Given the description of an element on the screen output the (x, y) to click on. 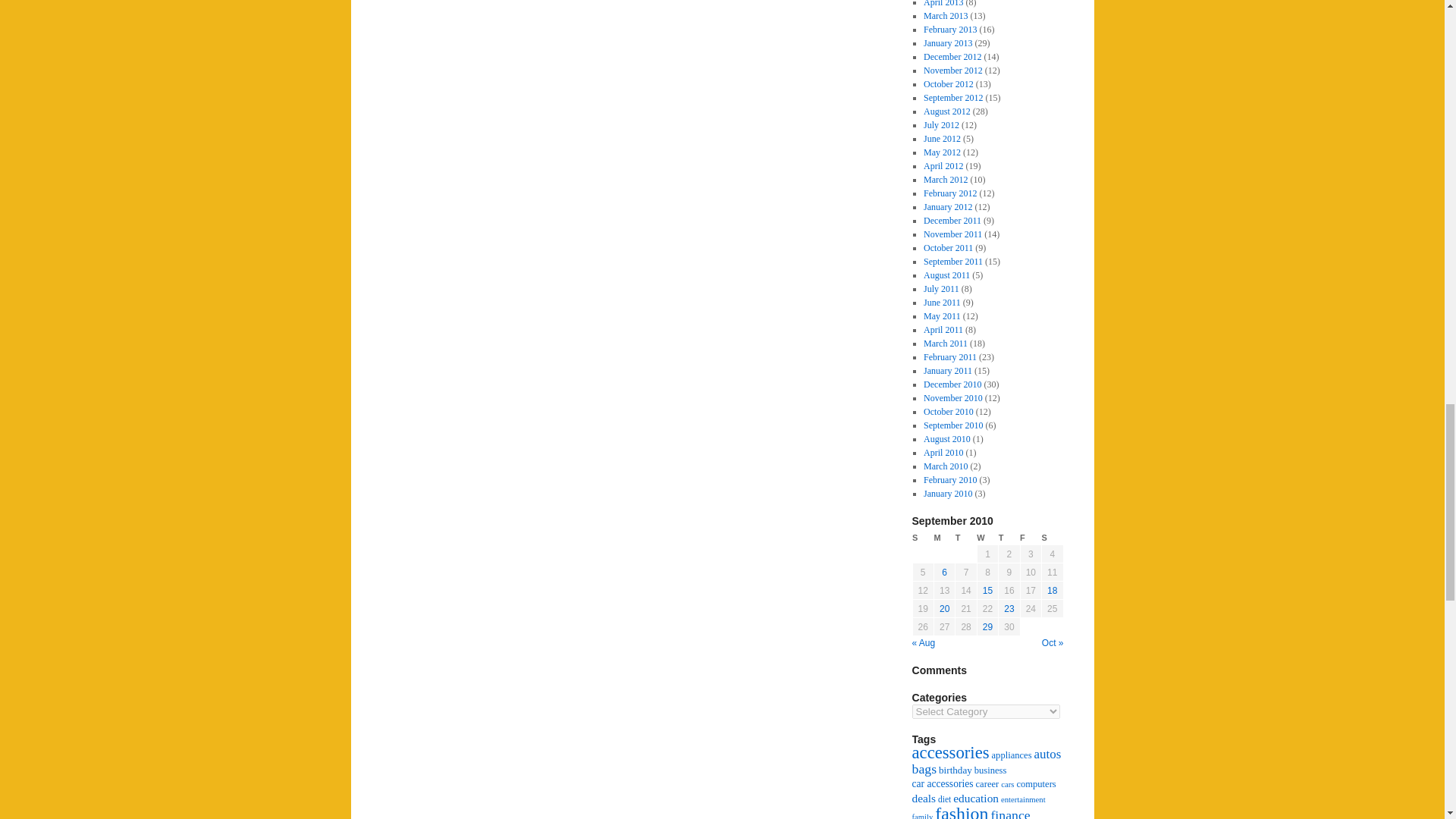
Friday (1030, 537)
Monday (944, 537)
Tuesday (965, 537)
Wednesday (986, 537)
Saturday (1052, 537)
Sunday (922, 537)
Thursday (1009, 537)
